Given the description of an element on the screen output the (x, y) to click on. 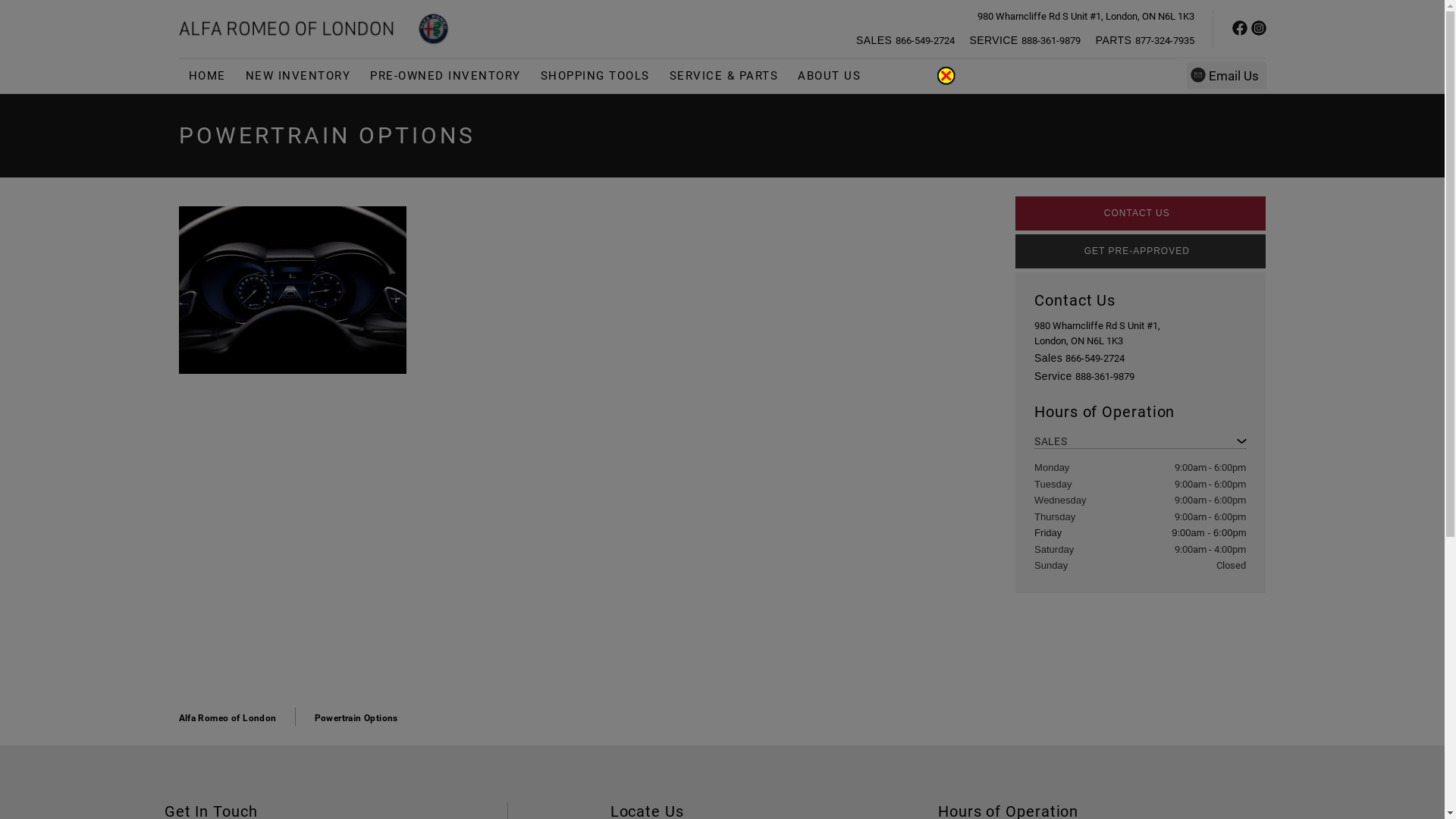
https://www.facebook.com/alfaromeolondon Element type: text (1238, 30)
NEW INVENTORY Element type: text (297, 76)
PARTS 877-324-7935 Element type: text (1144, 40)
SALES 866-549-2724 Element type: text (904, 40)
Email Us Element type: text (1224, 75)
https://www.instagram.com/alfaromeooflondon1/ Element type: text (1258, 30)
SERVICE 888-361-9879 Element type: text (1024, 40)
PRE-OWNED INVENTORY Element type: text (445, 76)
HOME Element type: text (206, 76)
980 Wharncliffe Rd S Unit #1,
London, ON N6L 1K3 Element type: text (425, 88)
Service 888-361-9879 Element type: text (1084, 376)
CONTACT US Element type: text (1140, 213)
Sales 866-549-2724 Element type: text (1079, 357)
ABOUT US Element type: text (828, 76)
SHOPPING TOOLS Element type: text (594, 76)
SERVICE & PARTS Element type: text (723, 76)
980 Wharncliffe Rd S Unit #1,
London, ON N6L 1K3 Element type: text (1084, 16)
980 Wharncliffe Rd S Unit #1,
London, ON N6L 1K3 Element type: text (1097, 332)
Alfa Romeo of London Element type: text (227, 717)
GET PRE-APPROVED Element type: text (1140, 251)
